Given the description of an element on the screen output the (x, y) to click on. 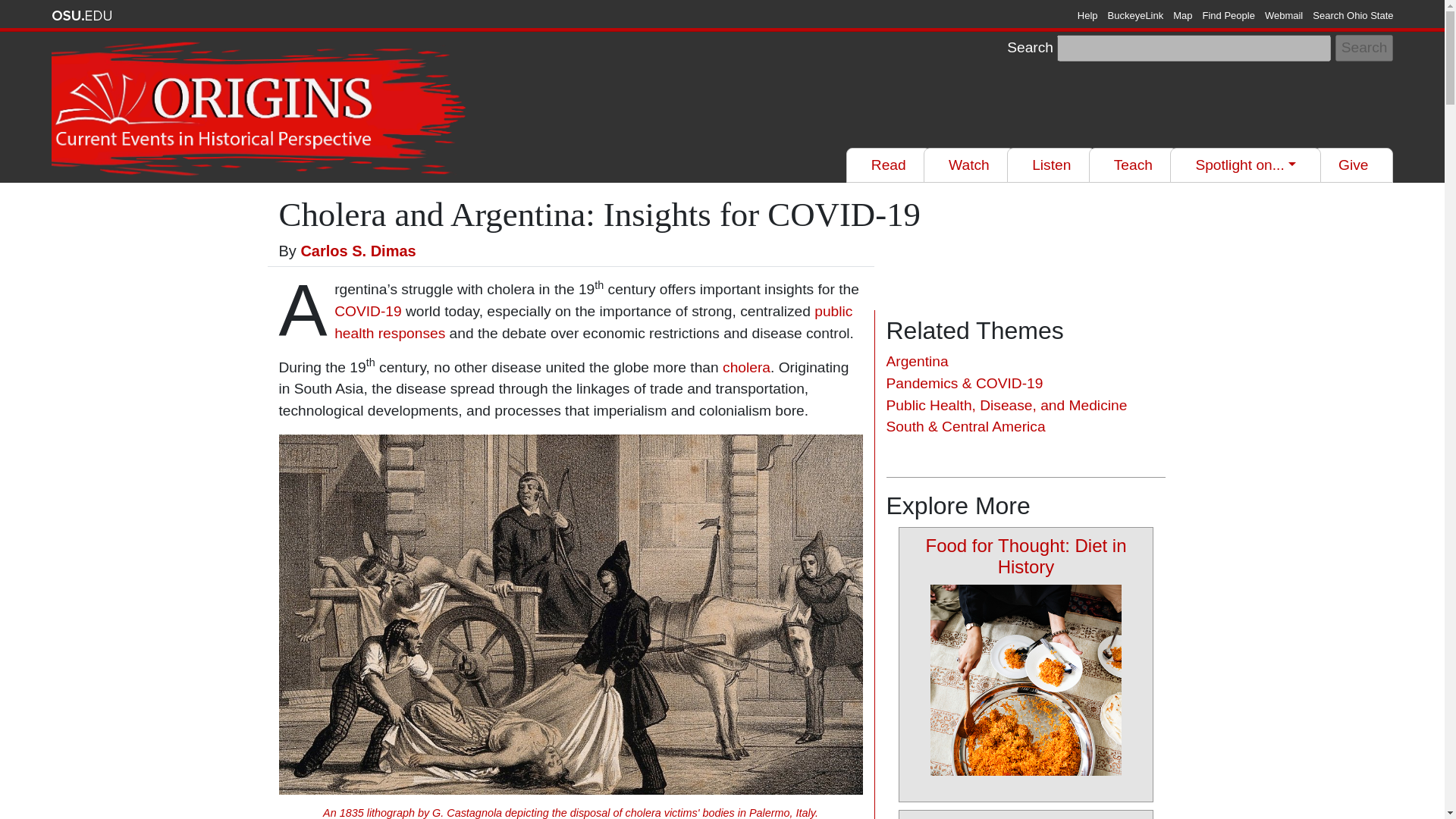
Watch (968, 165)
Home (260, 109)
Spotlight on... (1245, 165)
Read (888, 165)
Listen (1051, 165)
The Ohio State University website (81, 15)
Help (1087, 15)
Search (1364, 48)
COVID-19 (367, 311)
BuckeyeLink (1135, 15)
Filter results (949, 46)
Webmail (1284, 15)
public health responses (592, 322)
Give (1353, 165)
